Given the description of an element on the screen output the (x, y) to click on. 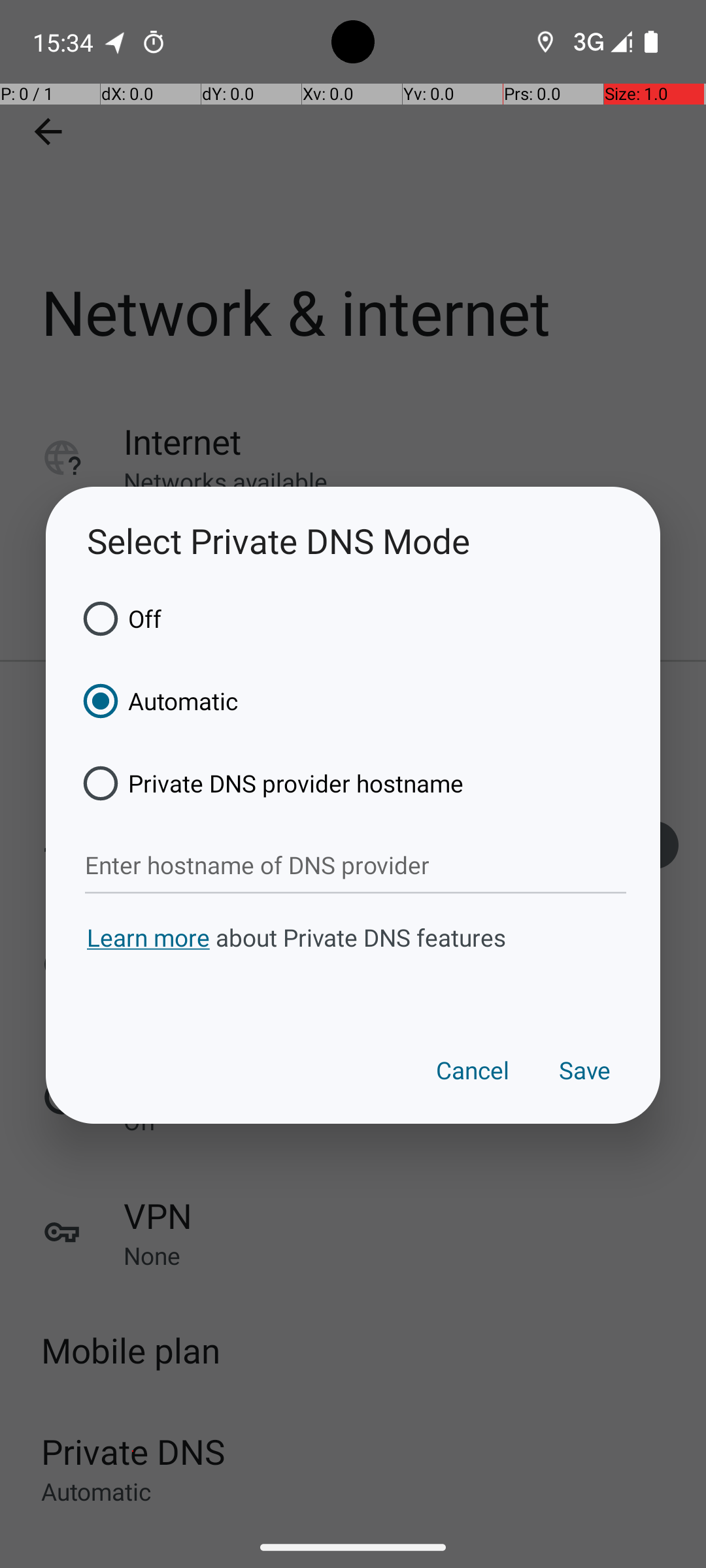
Select Private DNS Mode Element type: android.widget.TextView (352, 540)
Learn more about Private DNS features Element type: android.widget.TextView (352, 961)
Private DNS provider hostname Element type: android.widget.RadioButton (268, 783)
Enter hostname of DNS provider Element type: android.widget.EditText (355, 865)
